Given the description of an element on the screen output the (x, y) to click on. 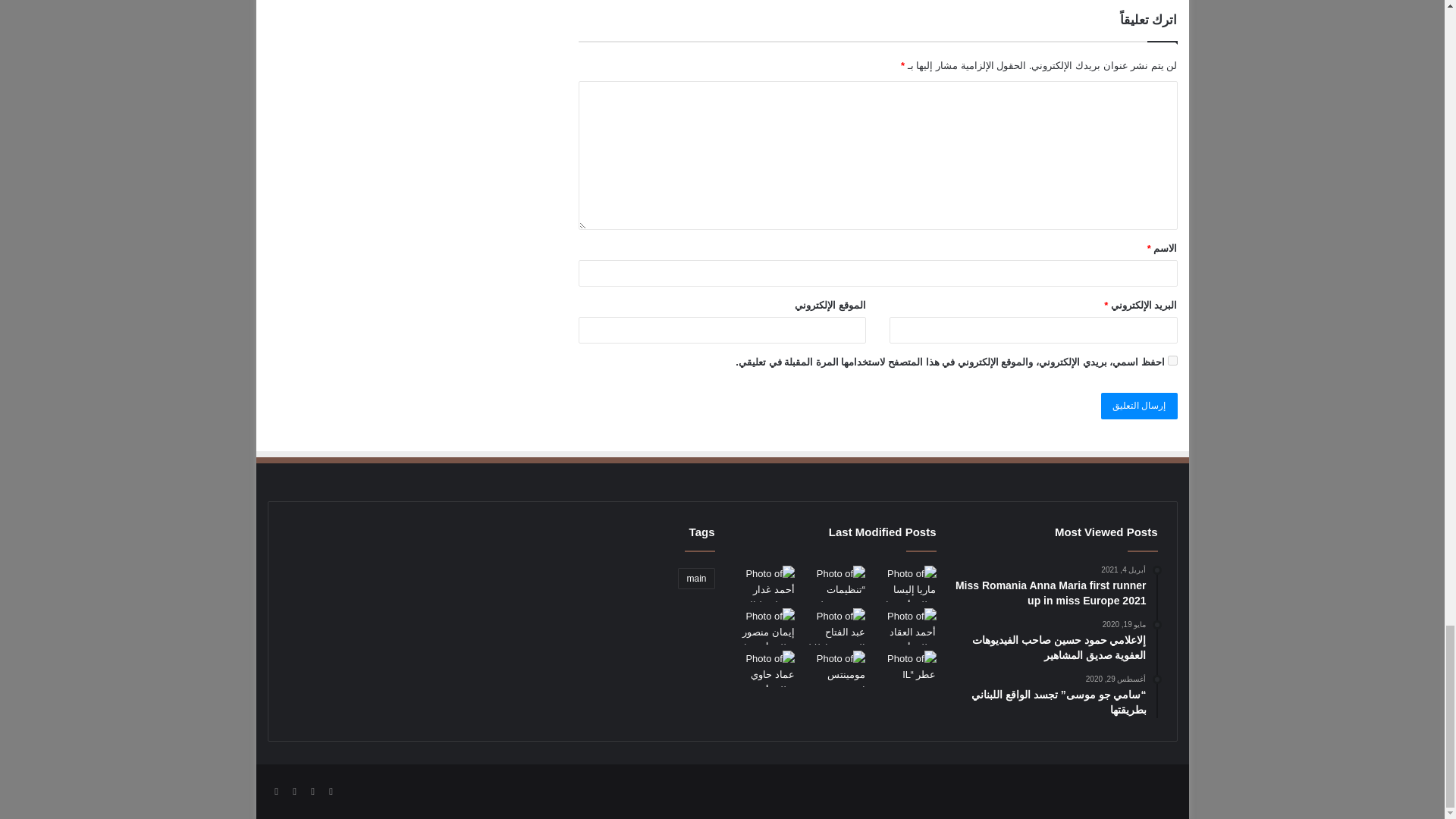
yes (1172, 360)
